Given the description of an element on the screen output the (x, y) to click on. 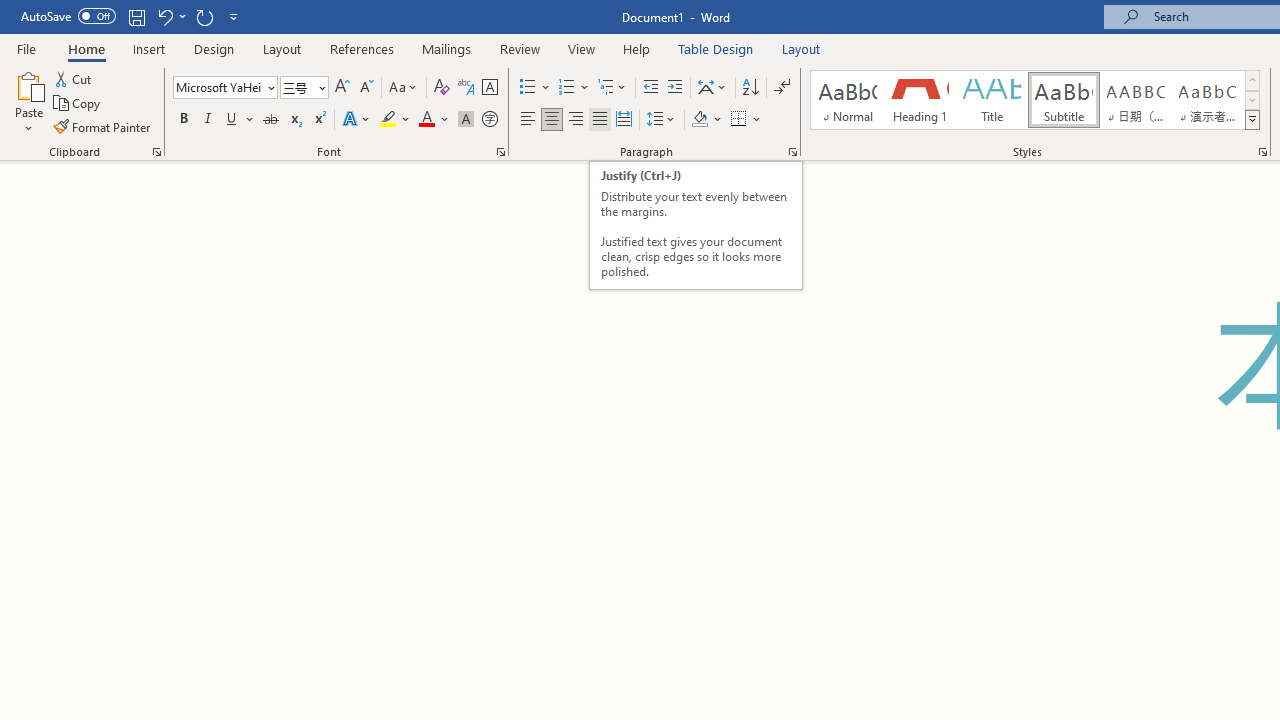
Shading (706, 119)
Undo Superscript (164, 15)
Row Down (1252, 100)
Distributed (623, 119)
Show/Hide Editing Marks (781, 87)
Subscript (294, 119)
Shrink Font (365, 87)
Asian Layout (712, 87)
Subtitle (1063, 100)
